Given the description of an element on the screen output the (x, y) to click on. 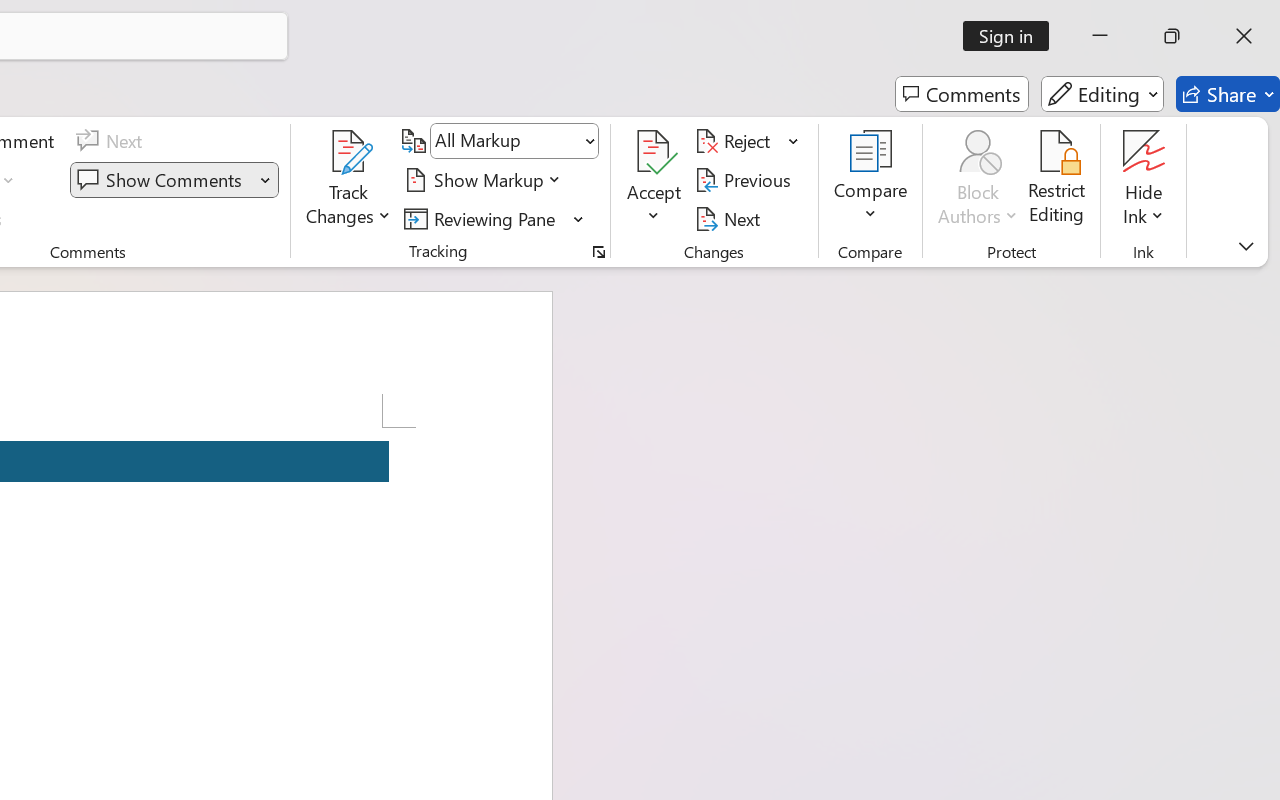
Show Comments (162, 179)
Hide Ink (1144, 179)
Compare (870, 179)
Next (730, 218)
Block Authors (977, 151)
Track Changes (349, 179)
Restrict Editing (1057, 179)
Accept and Move to Next (653, 151)
Reviewing Pane (483, 218)
Show Comments (174, 179)
Previous (745, 179)
Reject (747, 141)
